Given the description of an element on the screen output the (x, y) to click on. 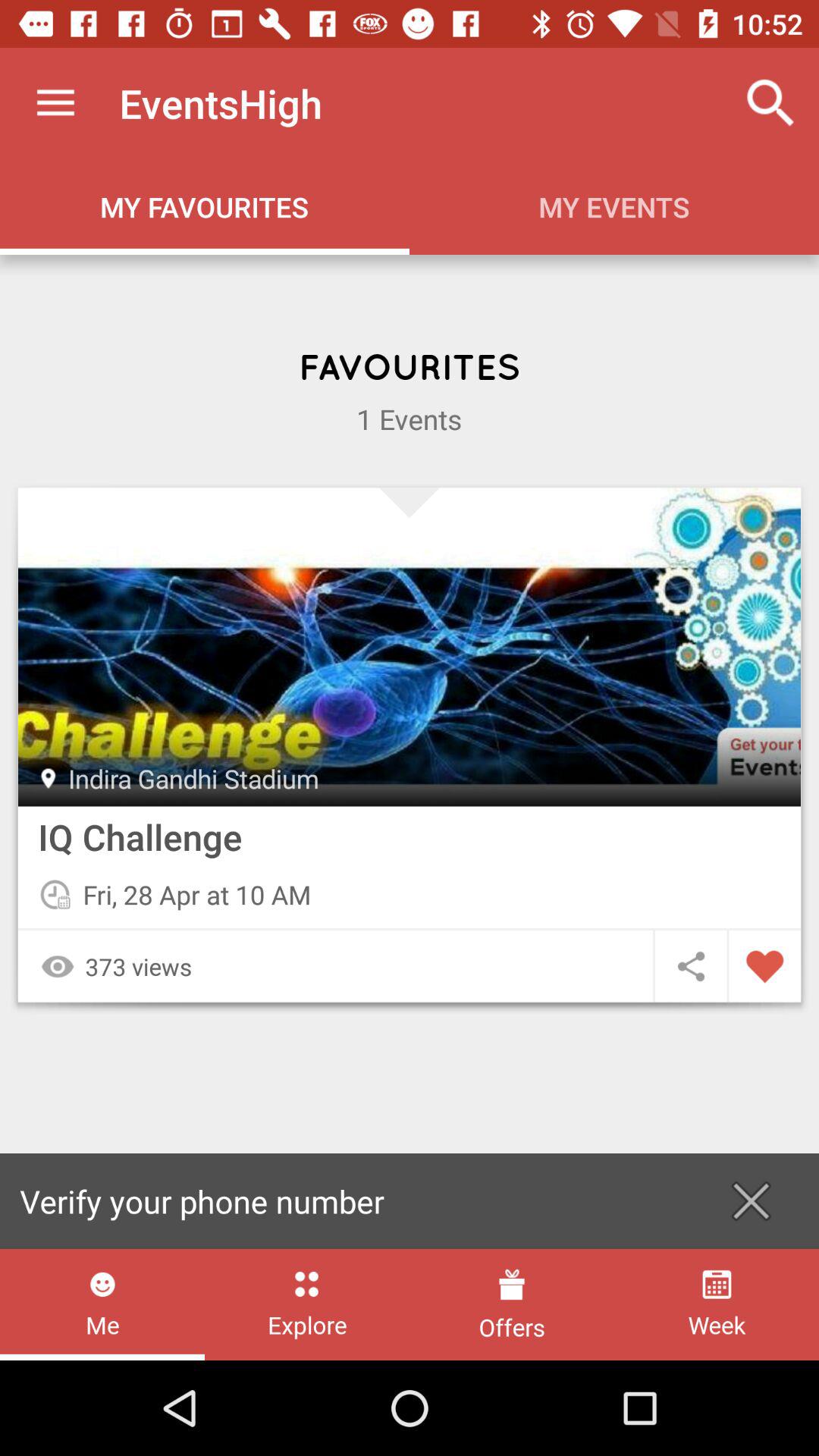
turn on the item below verify your phone item (306, 1304)
